Given the description of an element on the screen output the (x, y) to click on. 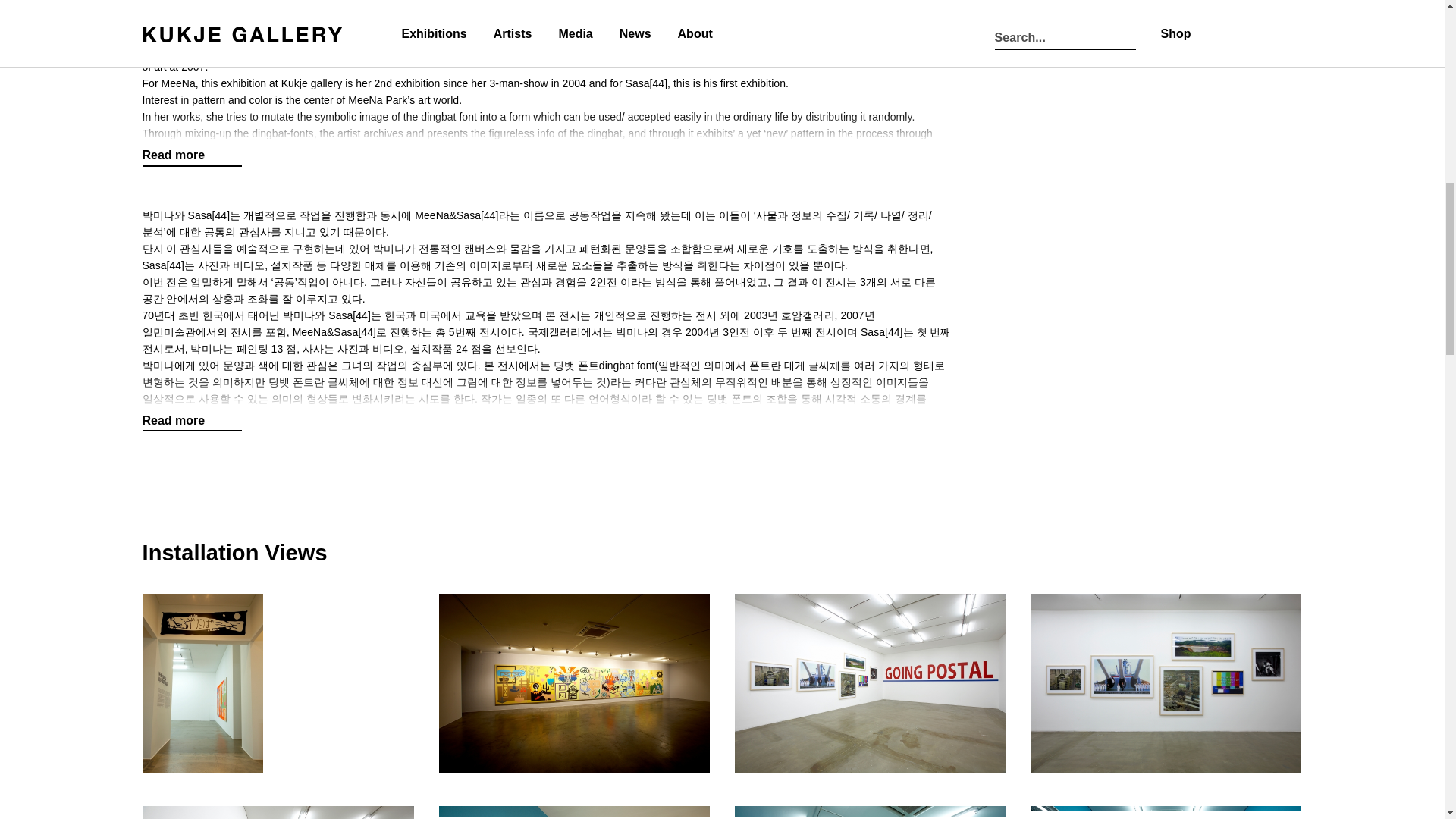
1349 (574, 682)
1355 (1166, 811)
Read more (192, 421)
1352 (278, 811)
1350 (870, 682)
1351 (1166, 682)
1348 (278, 682)
Read more (192, 155)
1353 (574, 811)
1354 (870, 811)
